Given the description of an element on the screen output the (x, y) to click on. 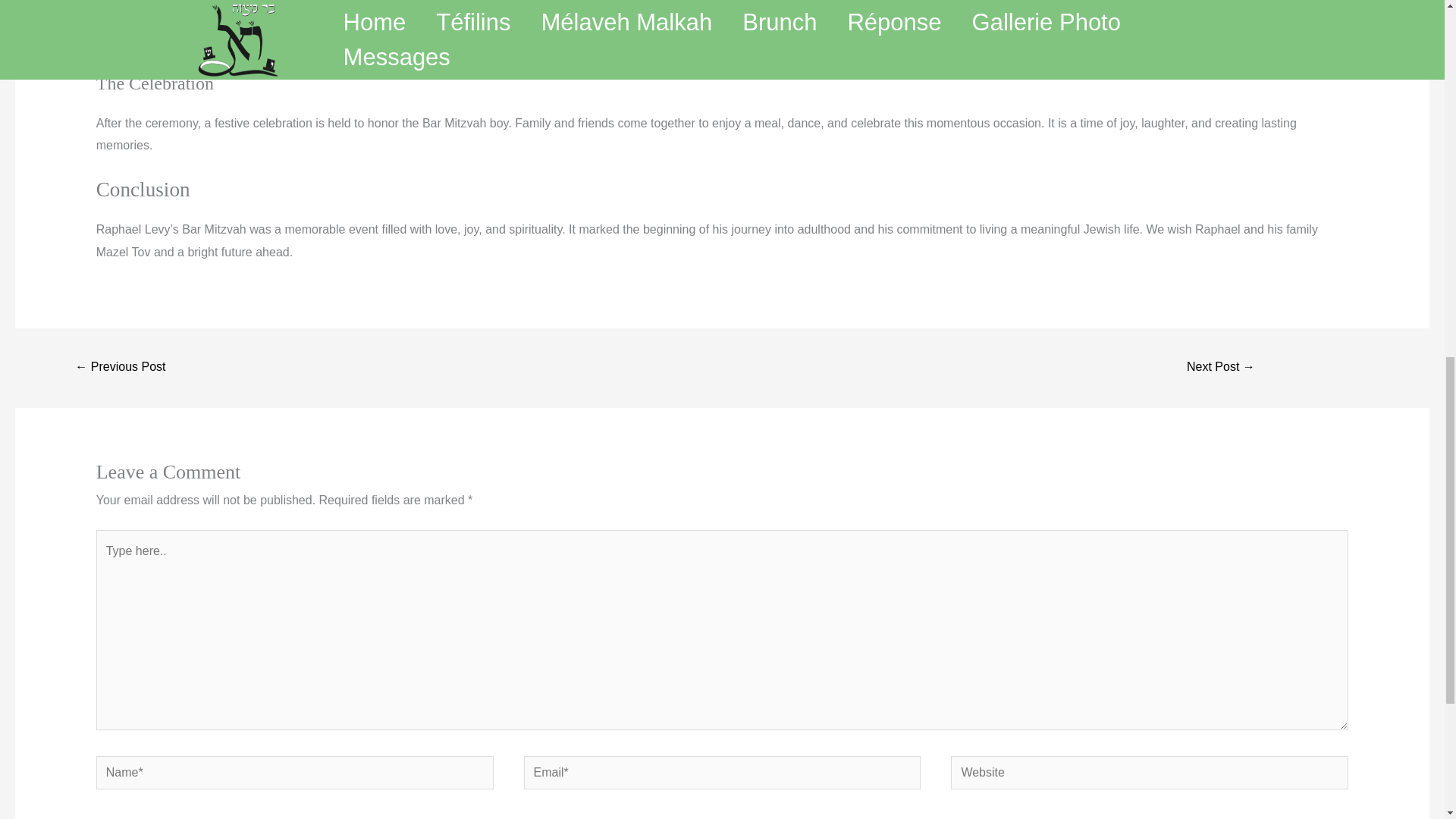
Bar Mitzvah of Raphael Levy (119, 367)
Bar Mitzvah of Raphael Levy (1220, 367)
